Given the description of an element on the screen output the (x, y) to click on. 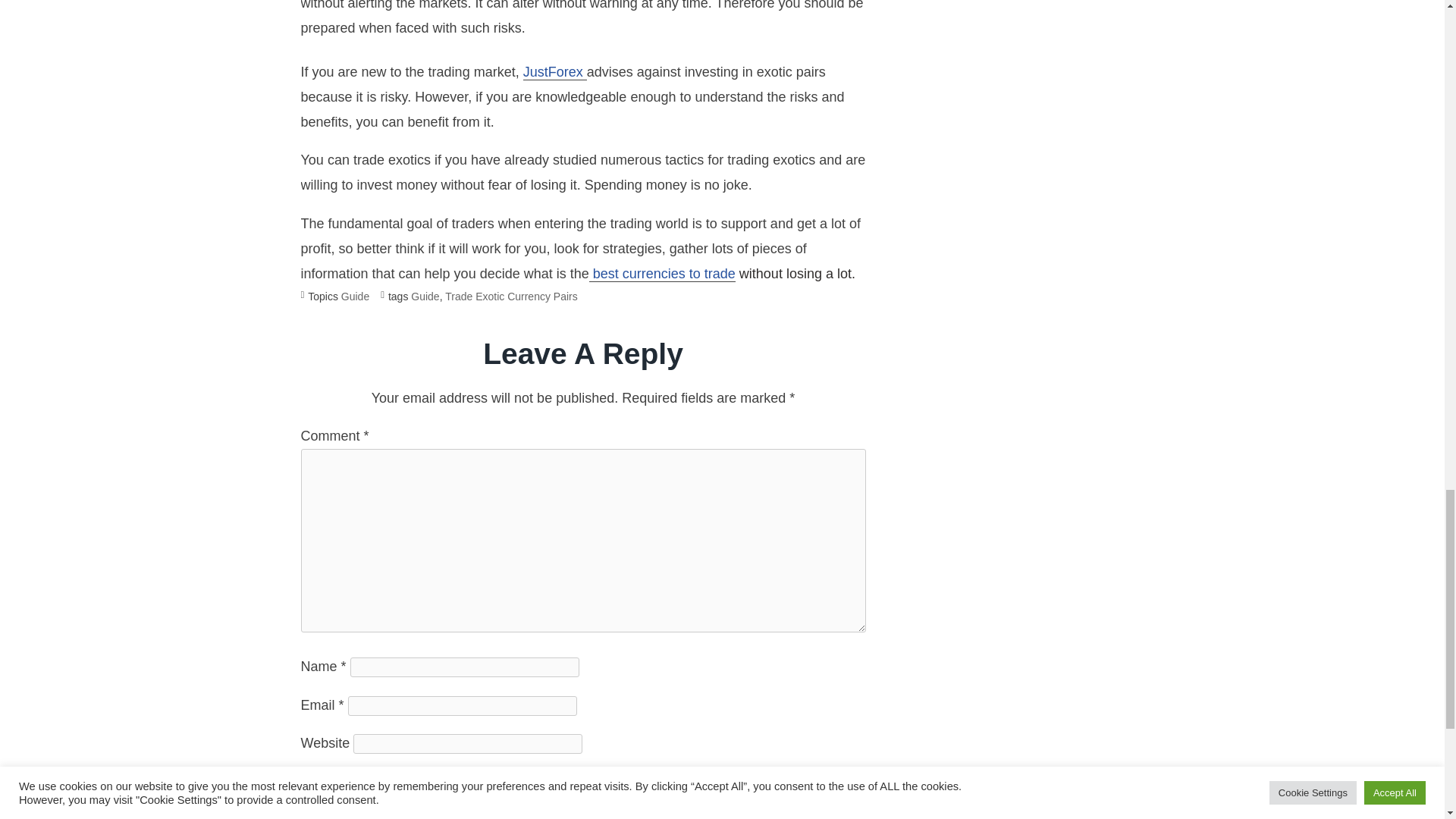
JustForex (554, 72)
Post Comment (352, 813)
Guide (424, 296)
Guide (354, 296)
Post Comment (352, 813)
yes (304, 781)
best currencies to trade (662, 273)
Trade Exotic Currency Pairs (511, 296)
